Given the description of an element on the screen output the (x, y) to click on. 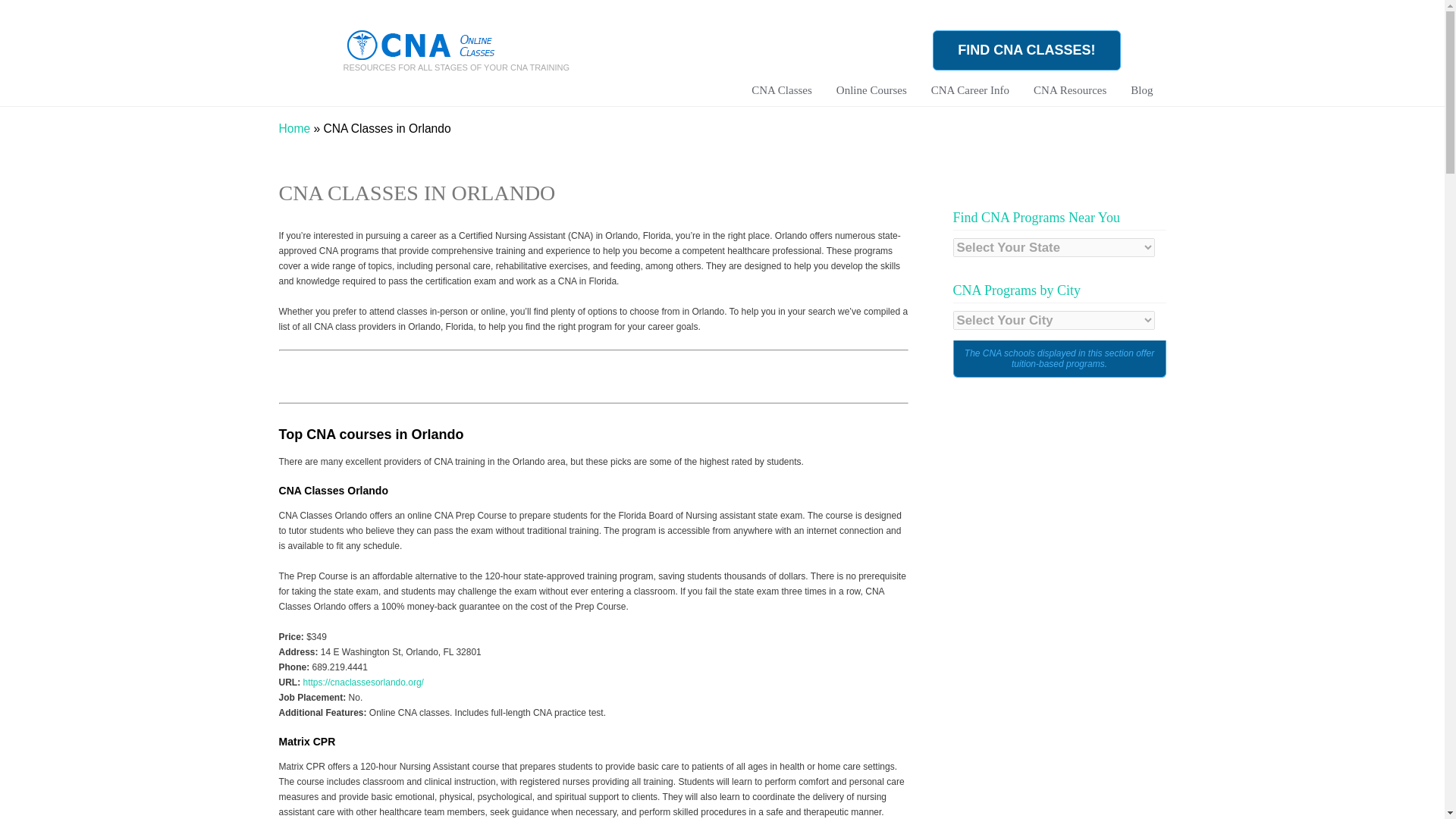
Blog (1141, 100)
FIND CNA CLASSES! (1026, 50)
Home (295, 128)
Online Courses (871, 100)
CNA Resources (1070, 100)
CNA Career Info (970, 100)
CNA Classes (781, 100)
